Given the description of an element on the screen output the (x, y) to click on. 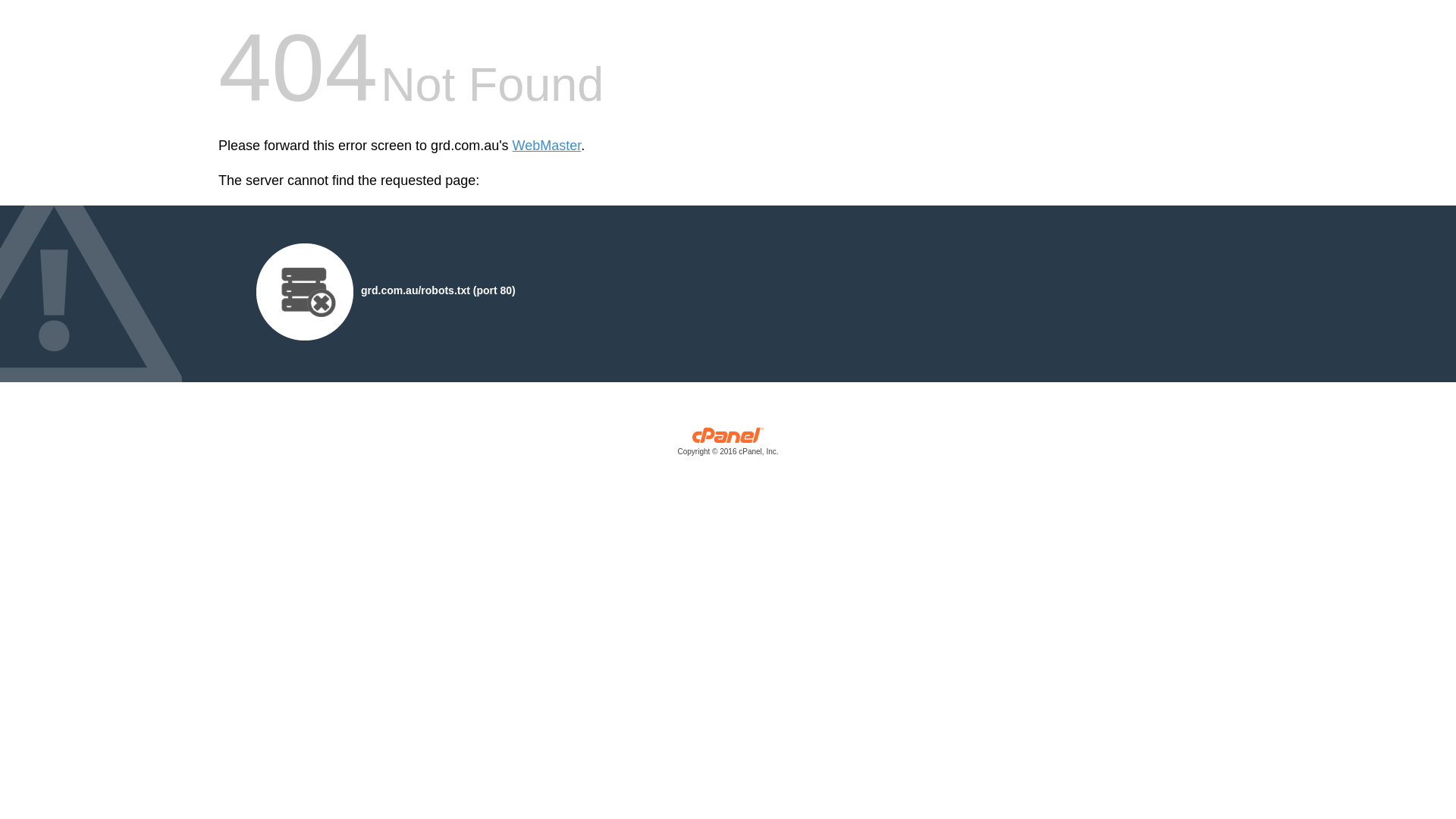
WebMaster Element type: text (546, 145)
